Given the description of an element on the screen output the (x, y) to click on. 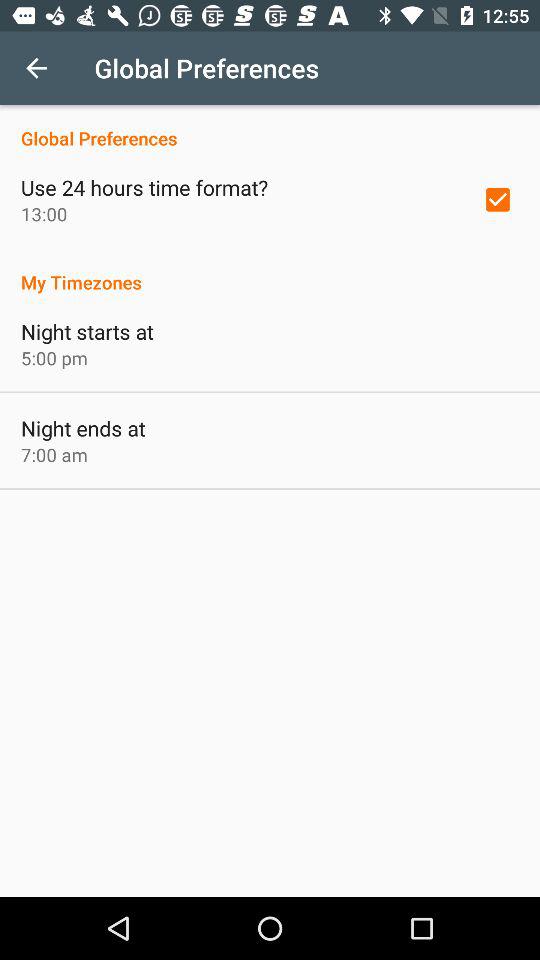
press the icon next to the global preferences item (36, 68)
